Given the description of an element on the screen output the (x, y) to click on. 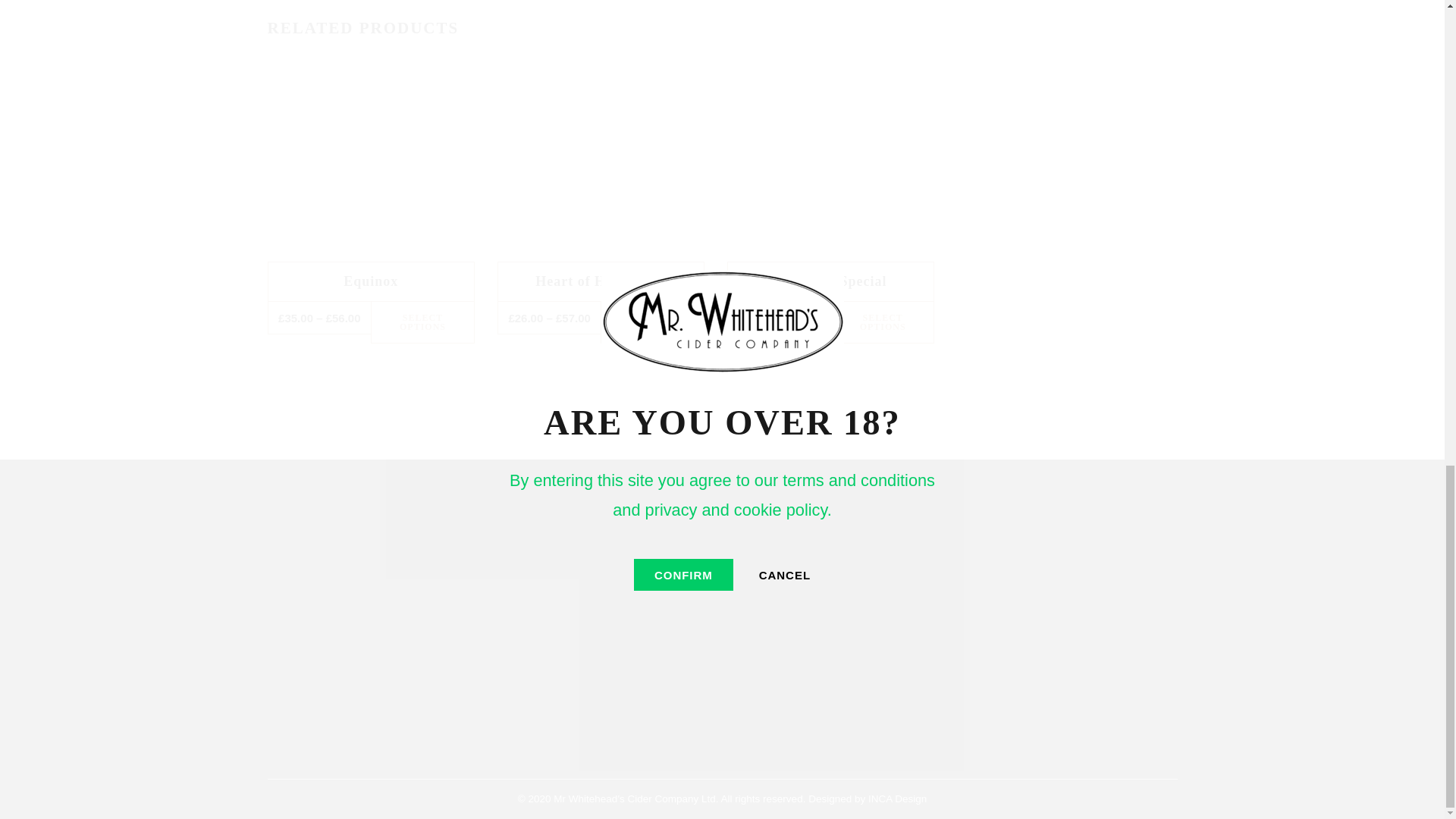
Equinox (370, 281)
SELECT OPTIONS (422, 322)
